Given the description of an element on the screen output the (x, y) to click on. 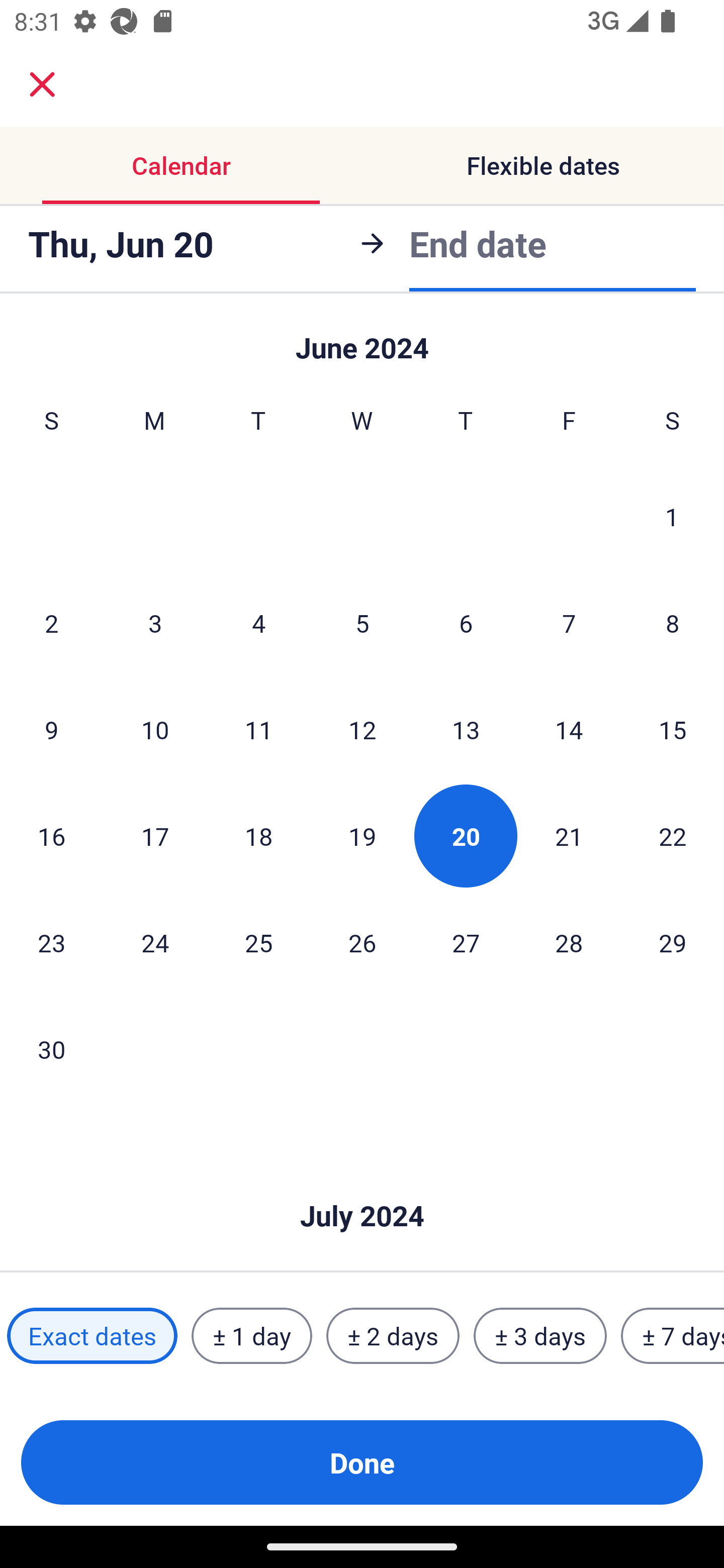
close. (42, 84)
Flexible dates (542, 164)
End date (477, 240)
1 Saturday, June 1, 2024 (672, 515)
2 Sunday, June 2, 2024 (51, 622)
3 Monday, June 3, 2024 (155, 622)
4 Tuesday, June 4, 2024 (258, 622)
5 Wednesday, June 5, 2024 (362, 622)
6 Thursday, June 6, 2024 (465, 622)
7 Friday, June 7, 2024 (569, 622)
8 Saturday, June 8, 2024 (672, 622)
9 Sunday, June 9, 2024 (51, 728)
10 Monday, June 10, 2024 (155, 728)
11 Tuesday, June 11, 2024 (258, 728)
12 Wednesday, June 12, 2024 (362, 728)
13 Thursday, June 13, 2024 (465, 728)
14 Friday, June 14, 2024 (569, 728)
15 Saturday, June 15, 2024 (672, 728)
16 Sunday, June 16, 2024 (51, 835)
17 Monday, June 17, 2024 (155, 835)
18 Tuesday, June 18, 2024 (258, 835)
19 Wednesday, June 19, 2024 (362, 835)
21 Friday, June 21, 2024 (569, 835)
22 Saturday, June 22, 2024 (672, 835)
23 Sunday, June 23, 2024 (51, 942)
24 Monday, June 24, 2024 (155, 942)
25 Tuesday, June 25, 2024 (258, 942)
26 Wednesday, June 26, 2024 (362, 942)
27 Thursday, June 27, 2024 (465, 942)
28 Friday, June 28, 2024 (569, 942)
29 Saturday, June 29, 2024 (672, 942)
30 Sunday, June 30, 2024 (51, 1048)
Skip to Done (362, 1185)
Exact dates (92, 1335)
± 1 day (251, 1335)
± 2 days (392, 1335)
± 3 days (539, 1335)
± 7 days (672, 1335)
Done (361, 1462)
